Given the description of an element on the screen output the (x, y) to click on. 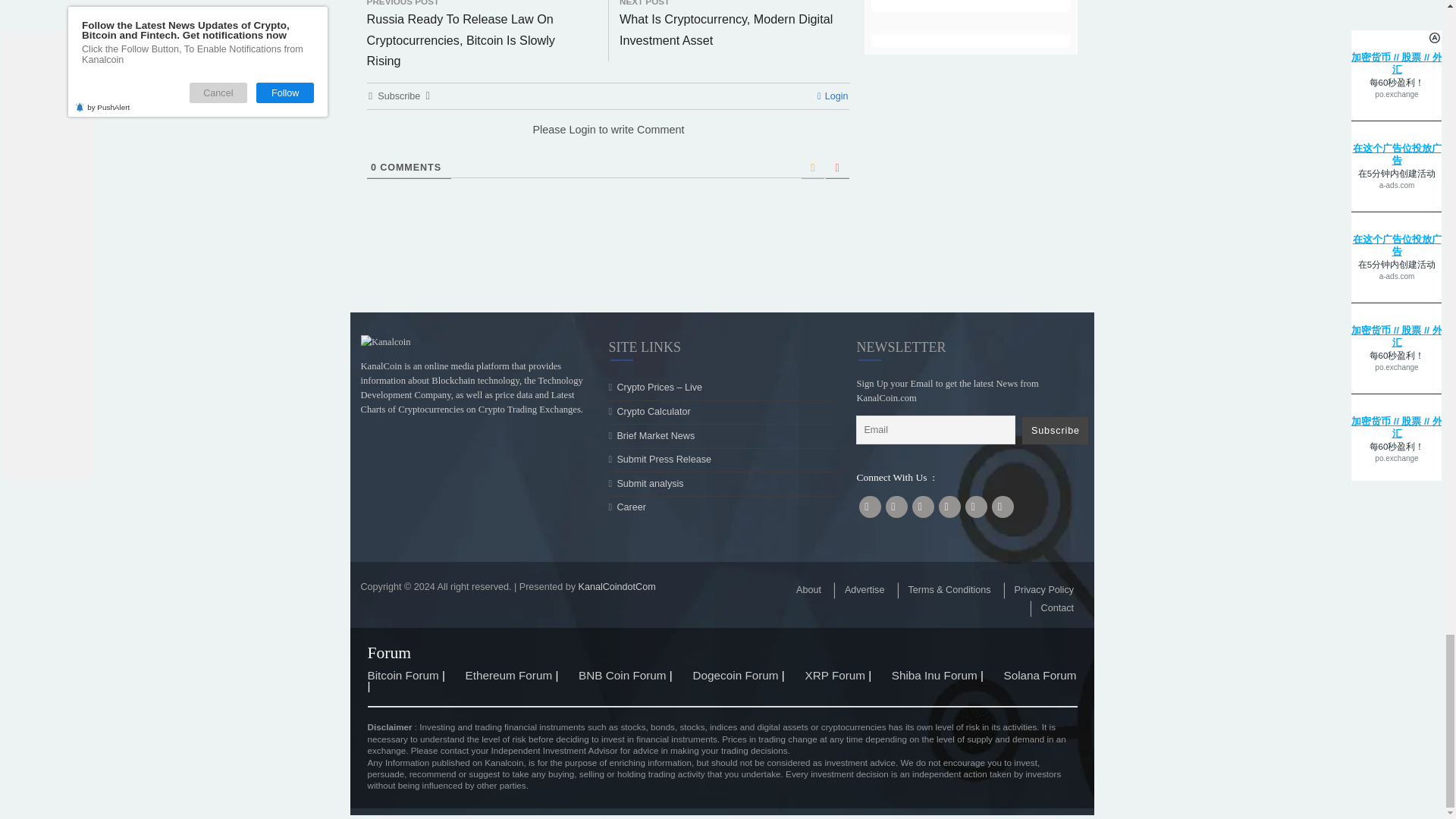
Telegram (572, 174)
Tweet this ! (463, 174)
Add this to LinkedIn (499, 174)
WhatsApp (536, 174)
Submit this to Reddit (609, 174)
Yes, I'm Subscribed (1078, 39)
Share this on Facebook (427, 174)
Subscribe (1172, 805)
